Given the description of an element on the screen output the (x, y) to click on. 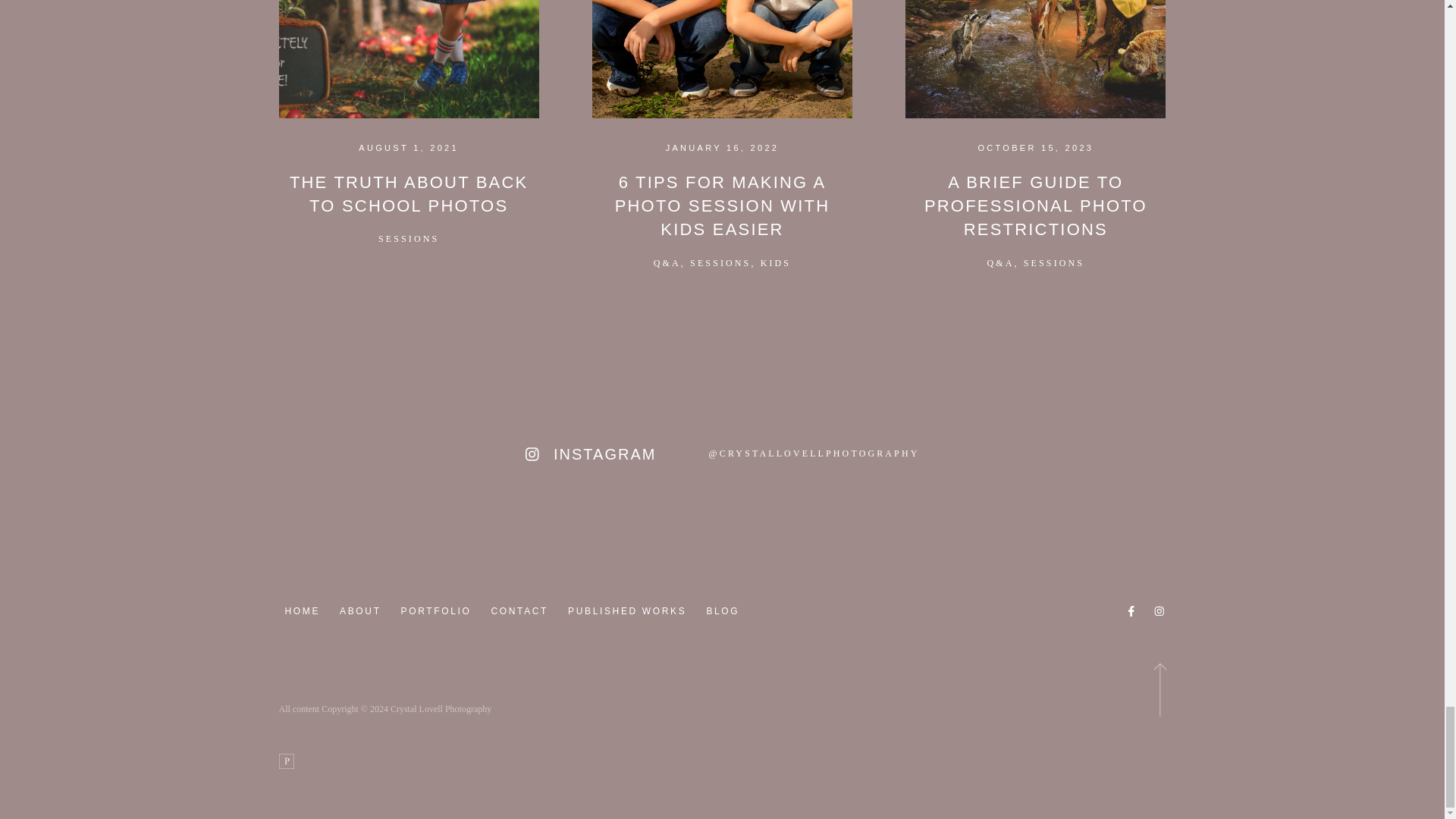
KIDS (775, 262)
SESSIONS (720, 262)
SESSIONS (408, 238)
